Given the description of an element on the screen output the (x, y) to click on. 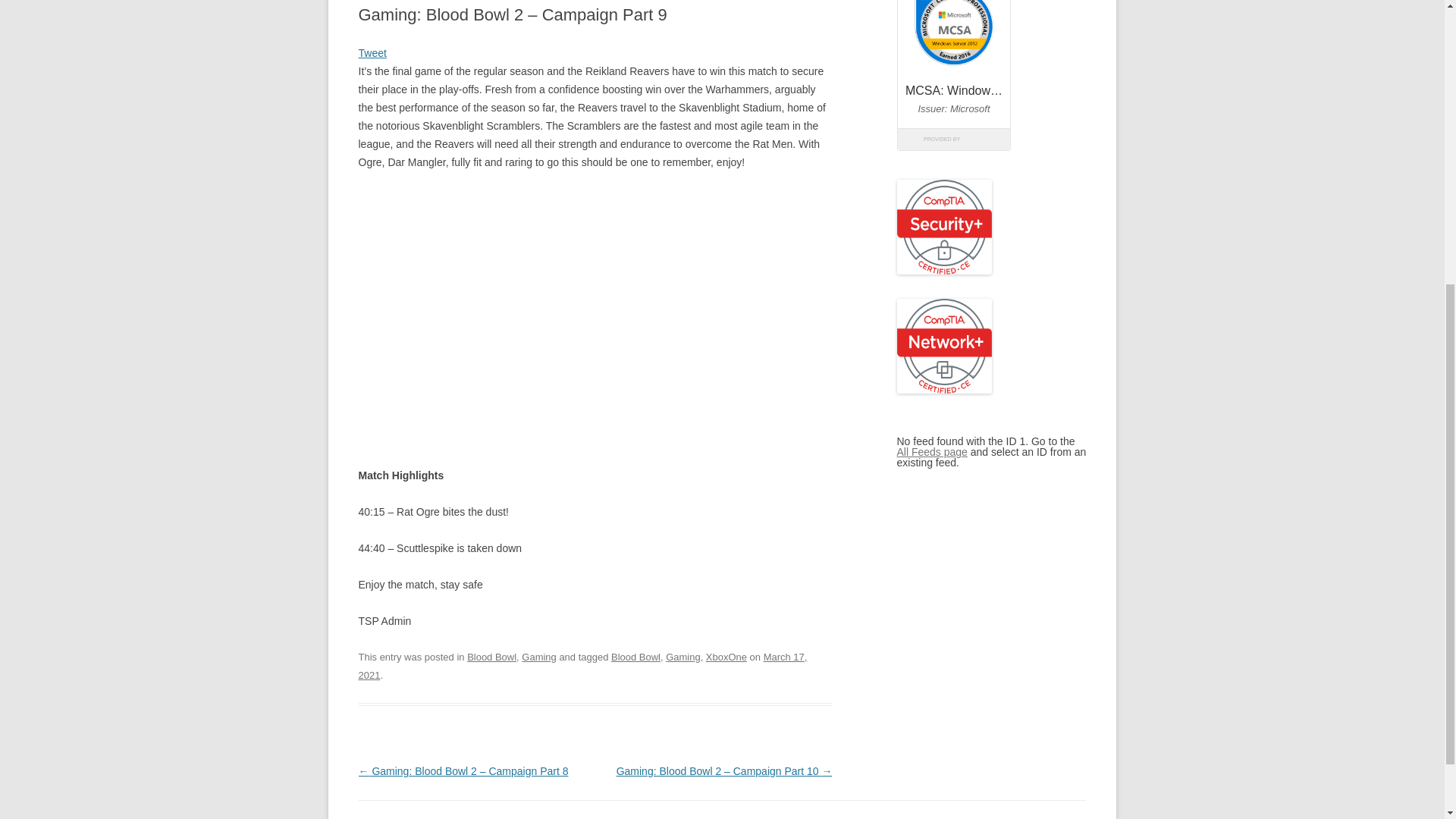
Blood Bowl (636, 656)
March 17, 2021 (582, 665)
Tweet (371, 52)
Gaming (538, 656)
BloodBowl 2 - Campaign Part 9 (594, 322)
All Feeds page (931, 451)
16:46 (582, 665)
Gaming (682, 656)
XboxOne (726, 656)
Blood Bowl (491, 656)
